Given the description of an element on the screen output the (x, y) to click on. 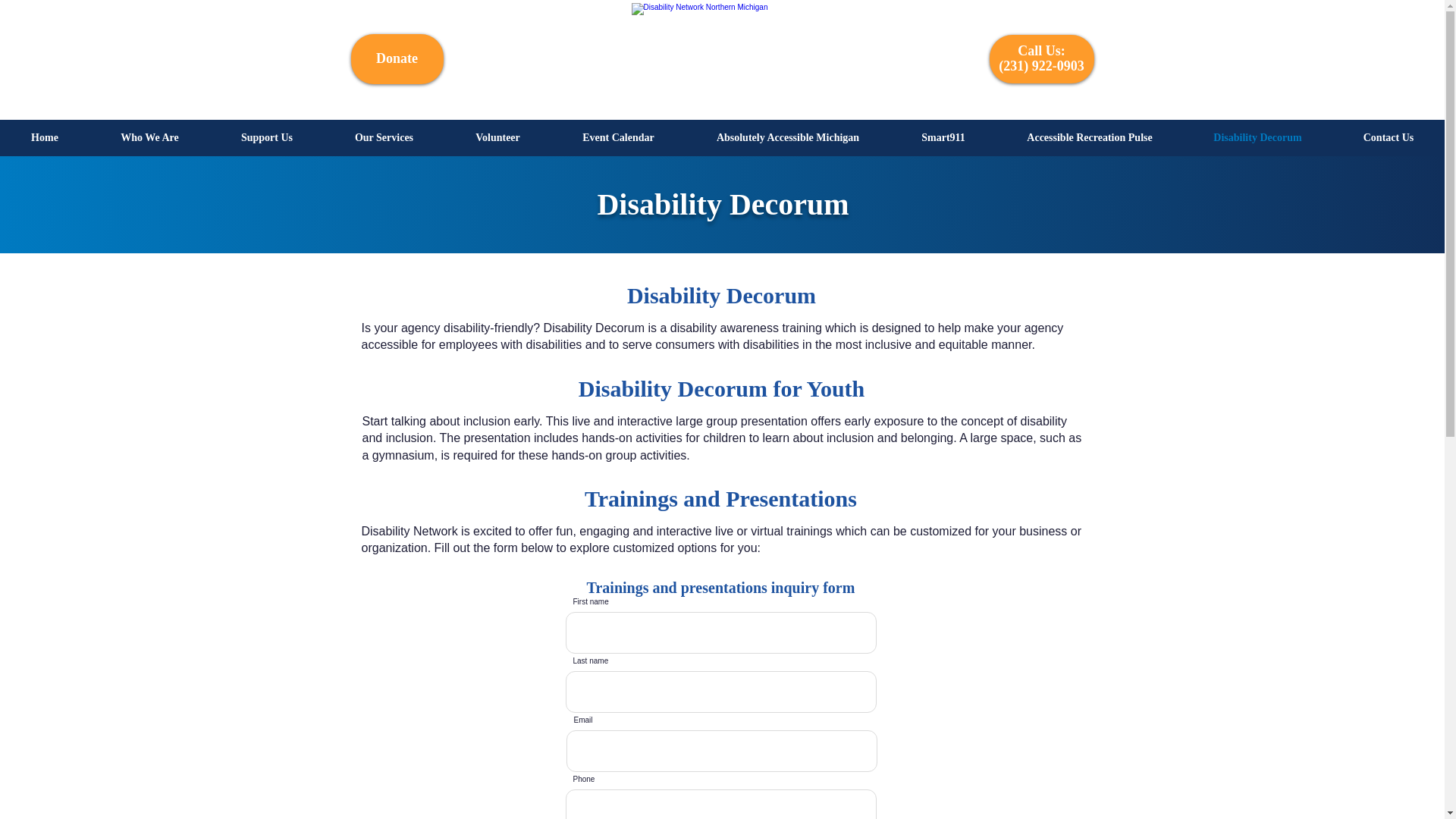
Absolutely Accessible Michigan (787, 137)
Smart911 (942, 137)
Support Us (266, 137)
Home (44, 137)
Volunteer (497, 137)
Disability Decorum (1257, 137)
Who We Are (148, 137)
Donate (396, 58)
Our Services (383, 137)
Event Calendar (618, 137)
